Given the description of an element on the screen output the (x, y) to click on. 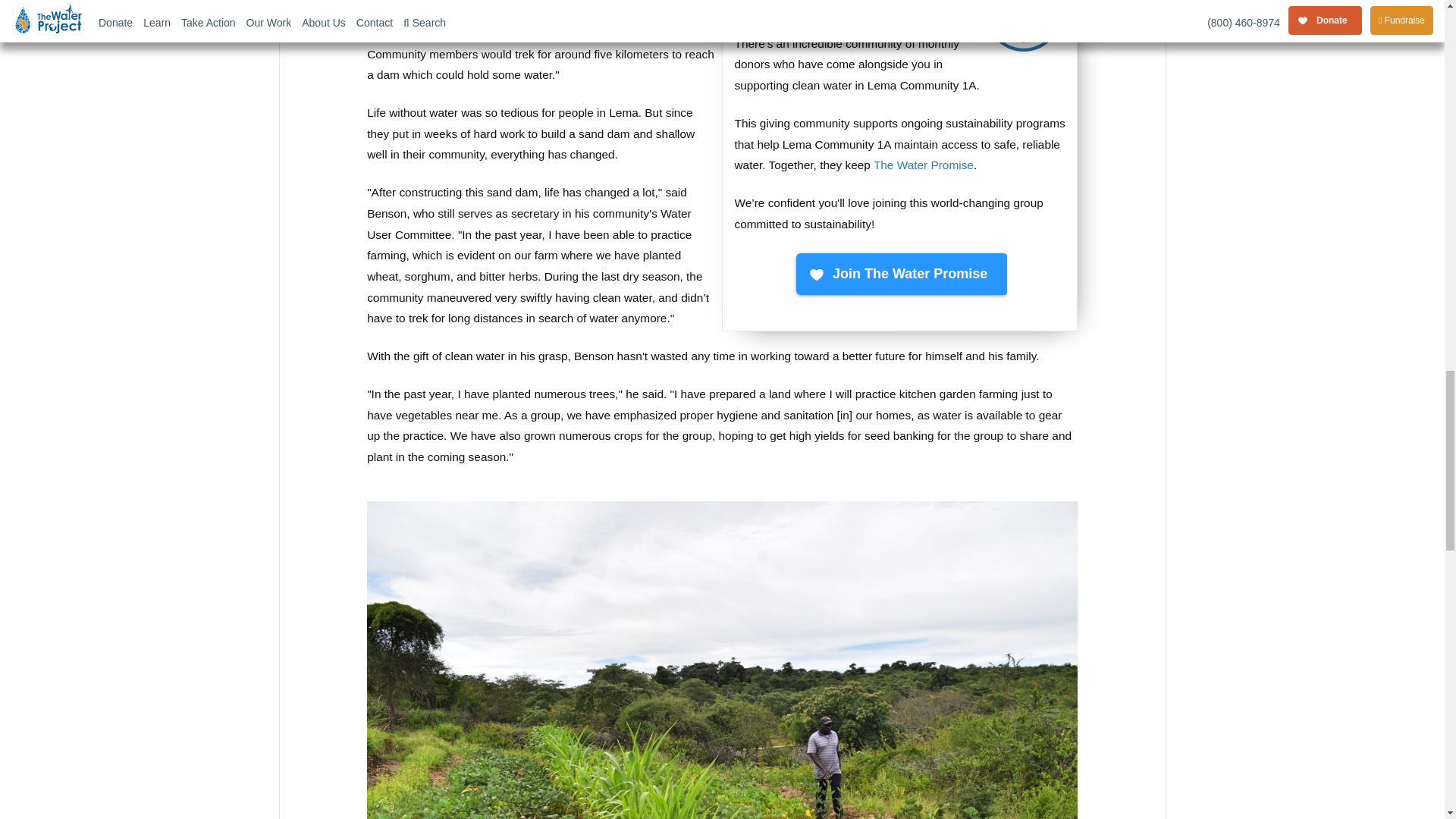
Donate Button (900, 274)
